Given the description of an element on the screen output the (x, y) to click on. 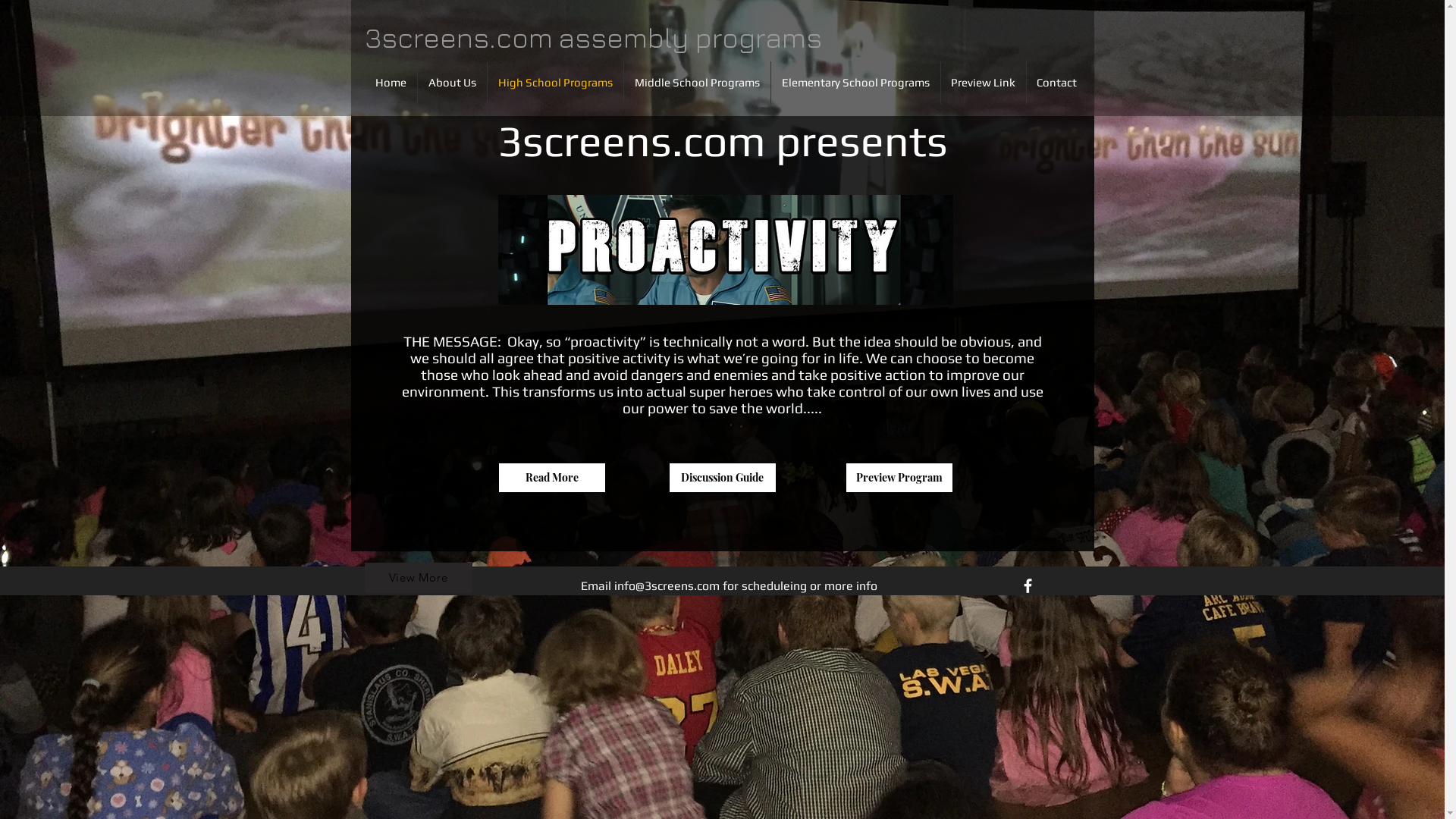
Preview Program Element type: text (898, 477)
High School Programs Element type: text (554, 82)
View More Element type: text (417, 577)
Home Element type: text (390, 82)
Elementary School Programs Element type: text (854, 82)
Middle School Programs Element type: text (696, 82)
Discussion Guide Element type: text (722, 477)
About Us Element type: text (451, 82)
Preview Link Element type: text (982, 82)
Read More Element type: text (551, 477)
Contact Element type: text (1056, 82)
info@3screens.com Element type: text (666, 585)
